Given the description of an element on the screen output the (x, y) to click on. 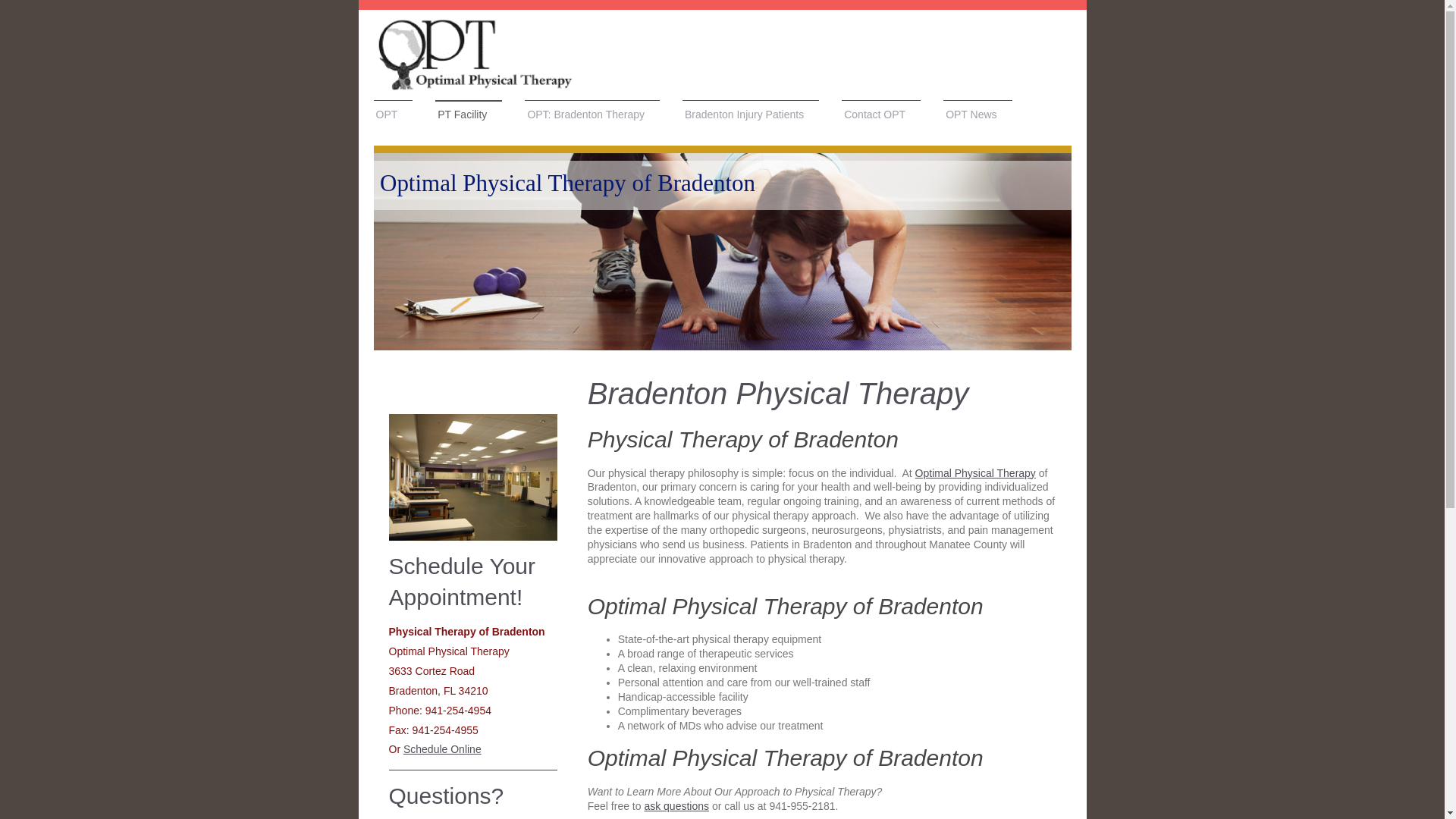
Bradenton Injury Patients (750, 114)
OPT (392, 114)
Optimal Physical Therapy of Bradenton (566, 182)
OPT News (977, 114)
PT Facility (468, 114)
ask questions (676, 806)
Optimal Physical Therapy (975, 472)
Contact OPT (880, 114)
OPT: Bradenton Therapy (591, 114)
